Given the description of an element on the screen output the (x, y) to click on. 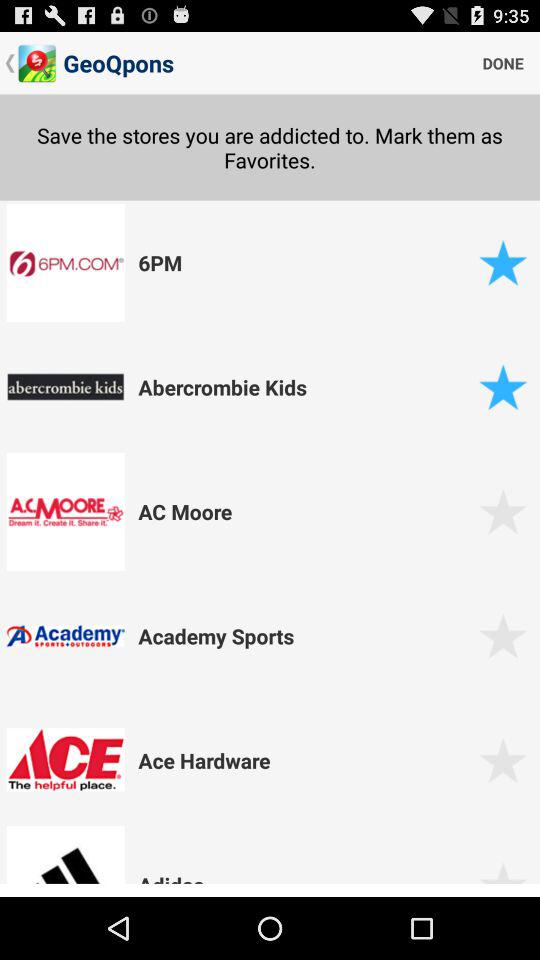
add to favorite (502, 879)
